Given the description of an element on the screen output the (x, y) to click on. 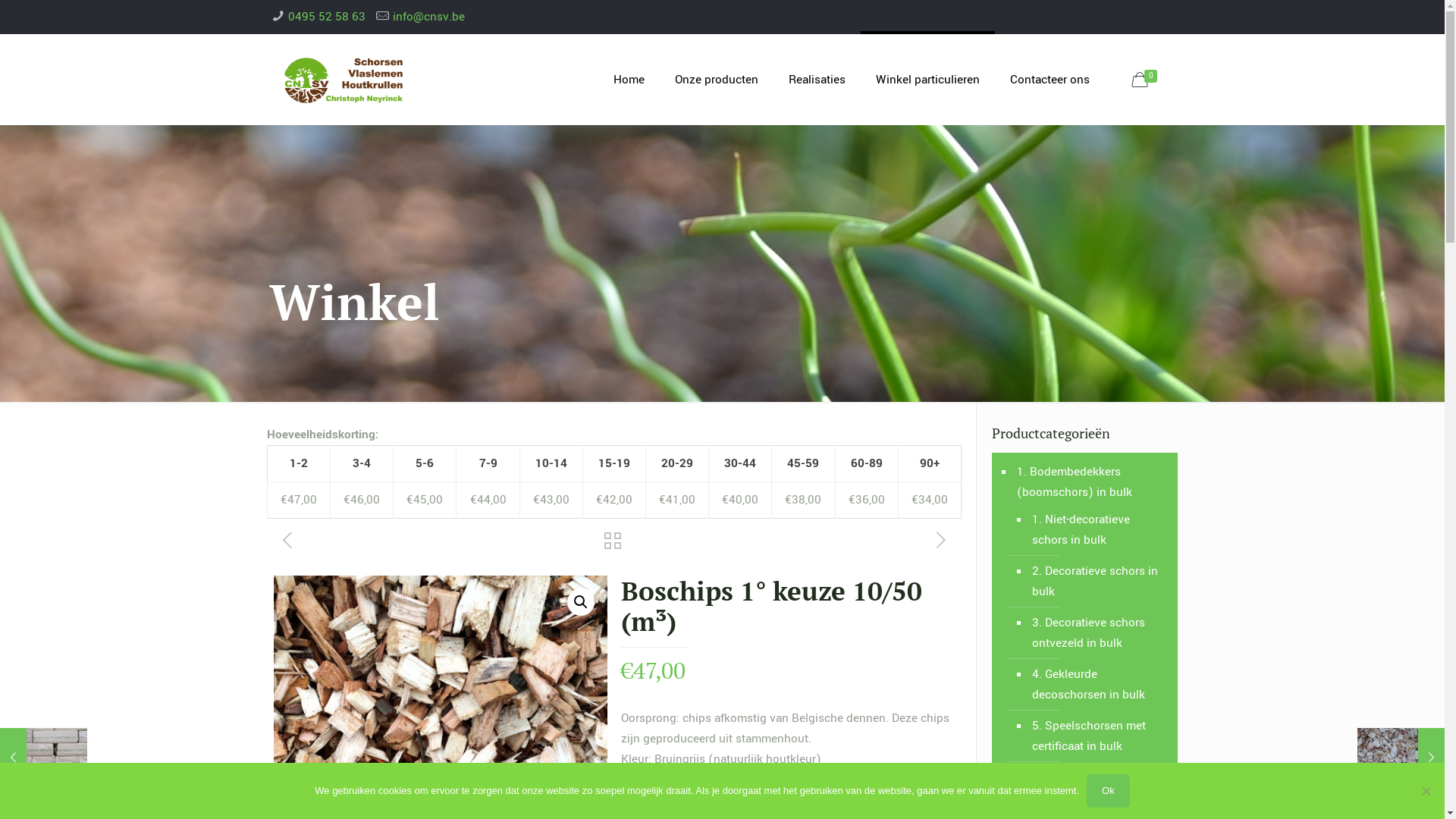
4. Gekleurde decoschorsen in bulk Element type: text (1095, 684)
Algemene voorwaarden Element type: text (501, 788)
Realisaties Element type: text (816, 79)
Boomschorsen Element type: text (794, 516)
5. Speelschorsen met certificaat in bulk Element type: text (1095, 736)
Aanvaard Element type: text (796, 797)
Winkel particulieren Element type: text (927, 79)
Bezoek onze webshop Element type: text (814, 651)
Ok Element type: text (1107, 790)
Literie stable Element type: text (788, 315)
2. Decoratieve schors in bulk Element type: text (1095, 581)
info@cnsv.be Element type: text (428, 16)
Visitez notre boutique en ligne Element type: text (835, 415)
Nee Element type: hover (1425, 790)
1. Niet-decoratieve schors in bulk Element type: text (1095, 529)
Contacteer ons Element type: text (1049, 79)
0495 52 58 63 Element type: text (326, 16)
Home Element type: text (628, 79)
3. Decoratieve schors ontvezeld in bulk Element type: text (1095, 632)
Bodemverbeteraars Element type: text (805, 544)
Houtpellets en brandhout Element type: text (822, 601)
1. Bodembedekkers (boomschors) in bulk Element type: text (1091, 482)
6. Speelschorsen zonder certificaat in bulk Element type: text (1095, 787)
Bent uw particulier? Element type: text (576, 239)
Onze producten Element type: text (716, 79)
Privacy policy Element type: text (393, 788)
Bent uw zelfstandig Element type: text (576, 267)
0 Element type: text (1146, 80)
Stalstrooisels Element type: text (791, 572)
